Given the description of an element on the screen output the (x, y) to click on. 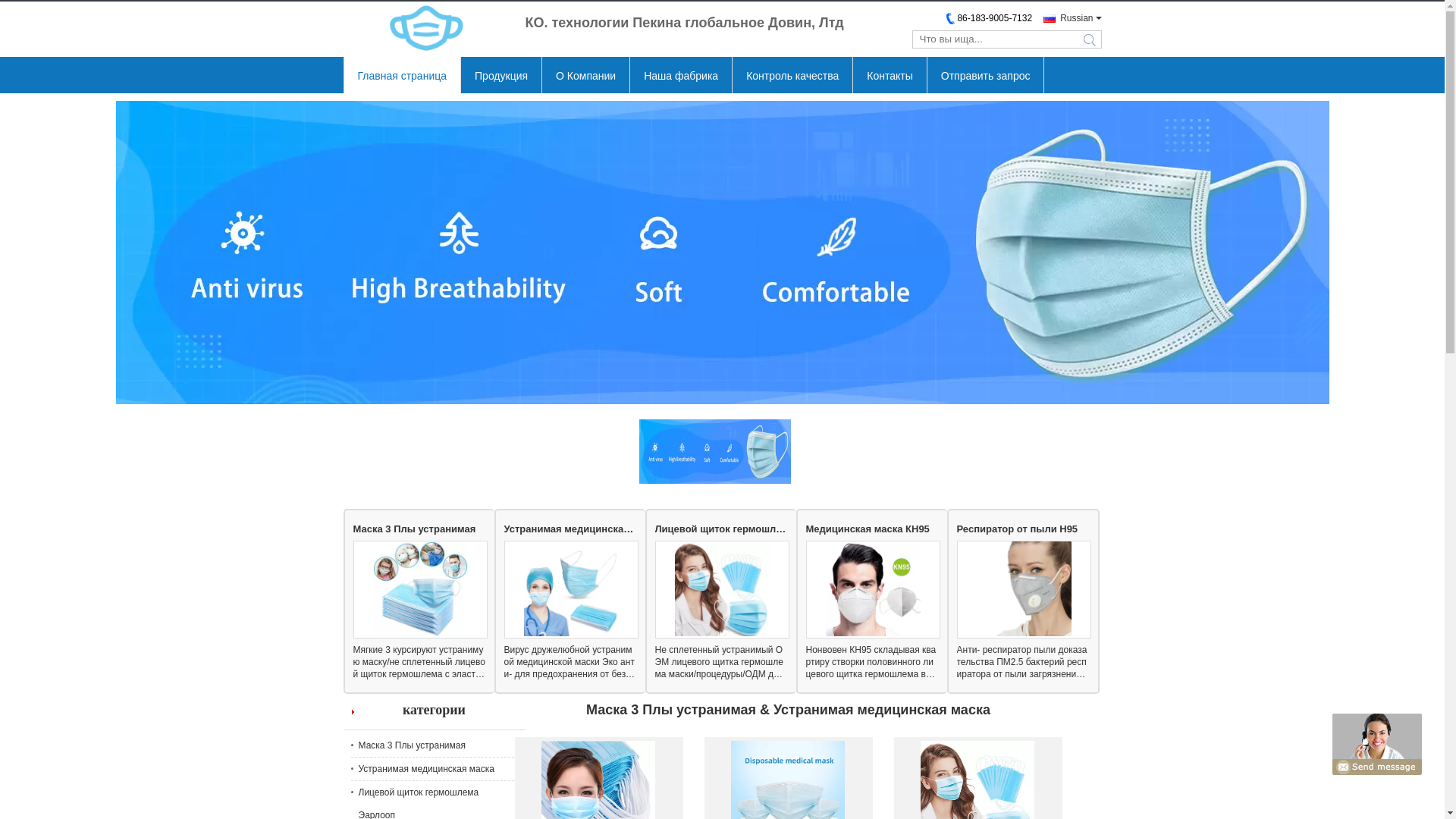
Russian Element type: text (1067, 17)
